Given the description of an element on the screen output the (x, y) to click on. 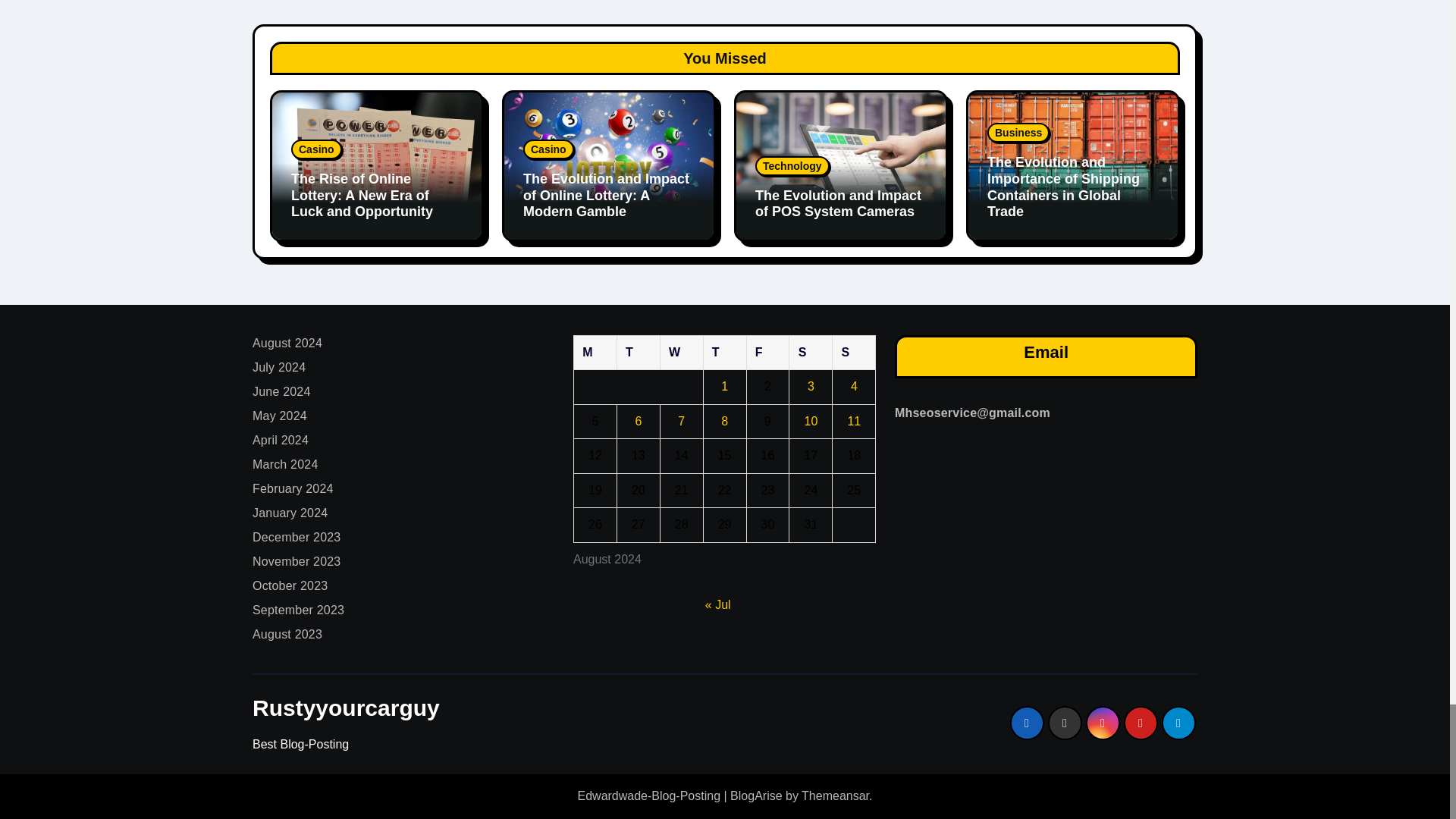
Permalink to: The Evolution and Impact of POS System Cameras (838, 204)
